Given the description of an element on the screen output the (x, y) to click on. 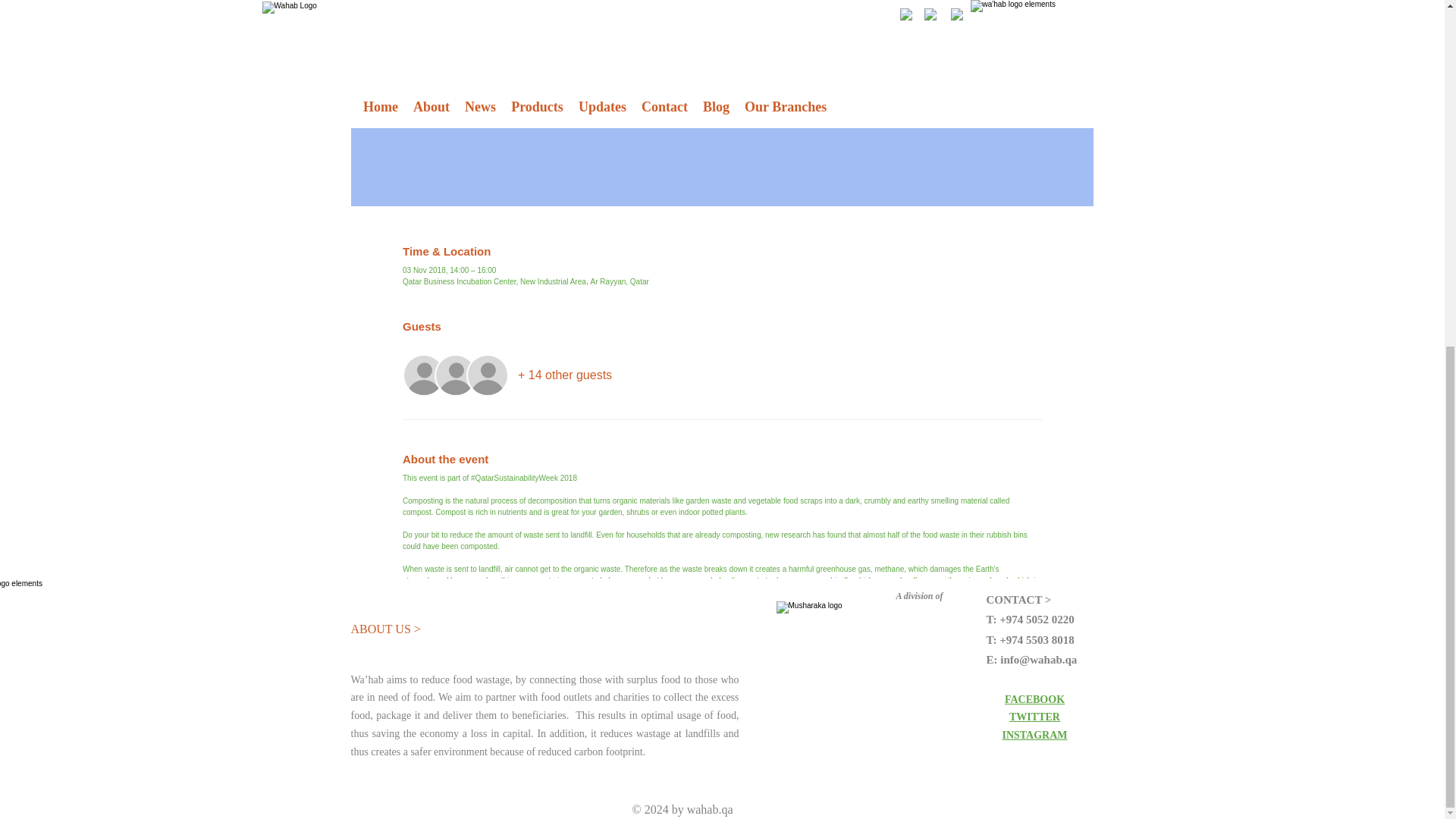
INSTAGRAM (1034, 735)
FACEBOOK (1034, 699)
TWITTER (1034, 716)
